Given the description of an element on the screen output the (x, y) to click on. 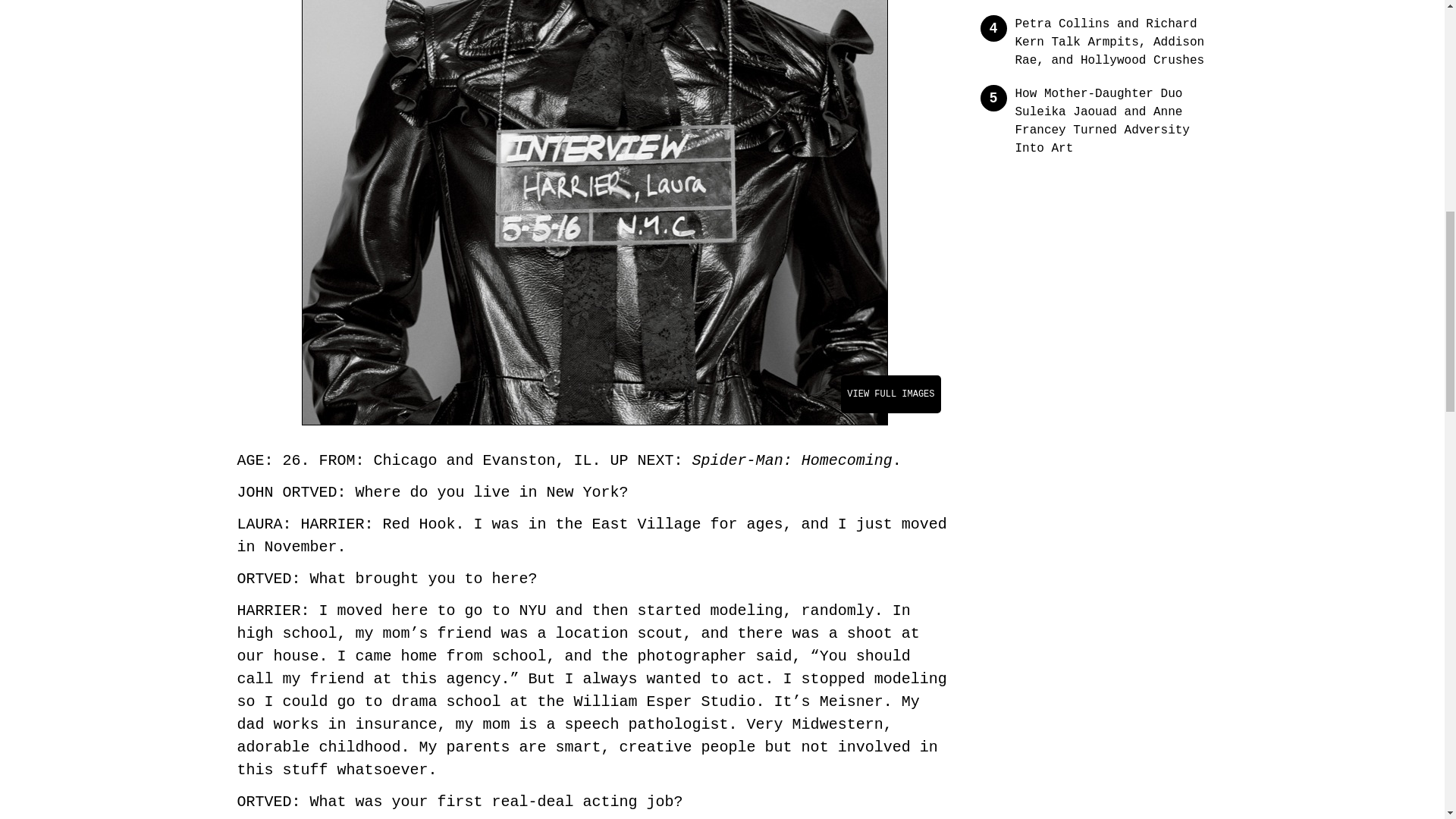
VIEW FULL IMAGES (890, 394)
